Given the description of an element on the screen output the (x, y) to click on. 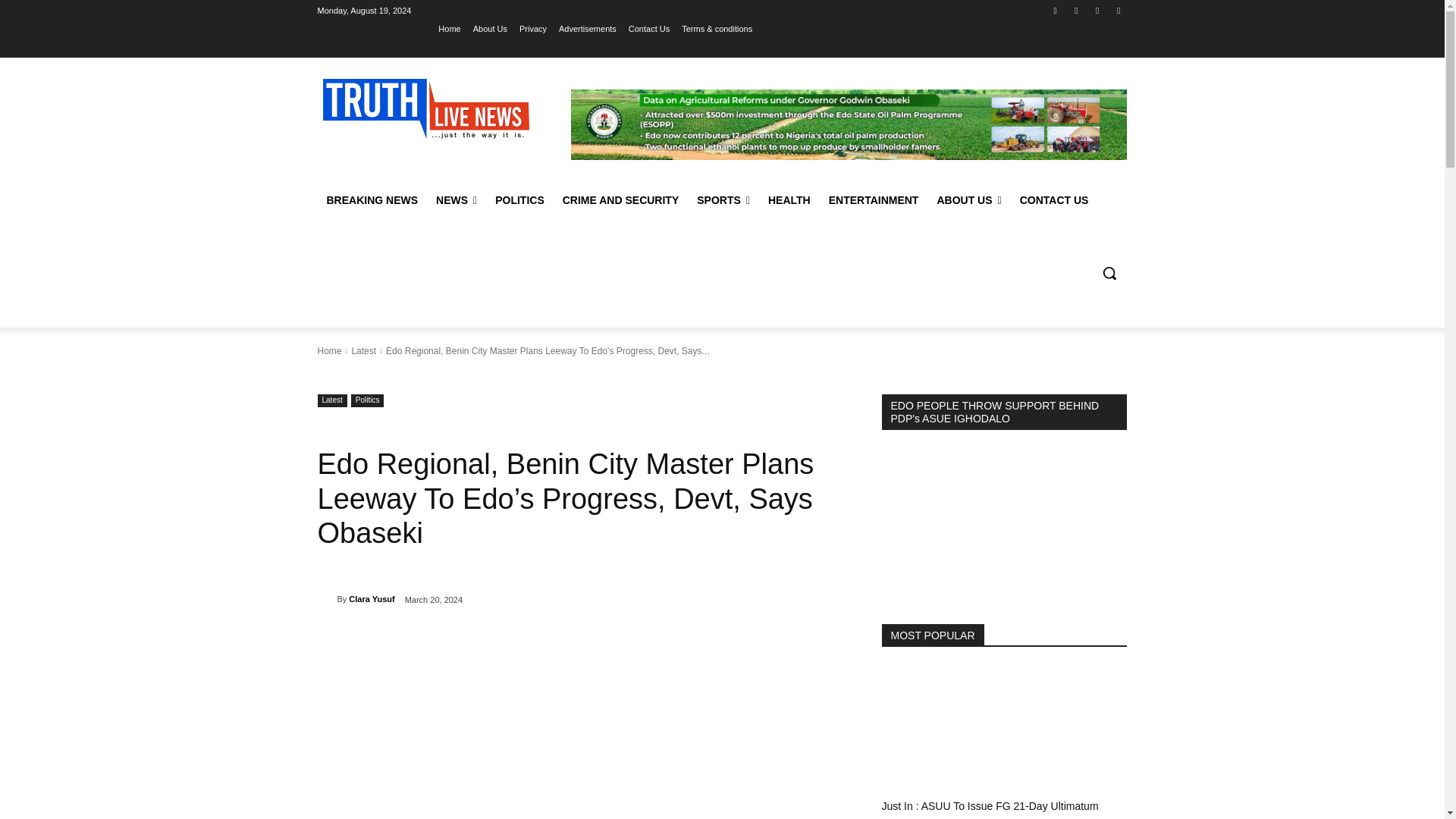
NEWS (456, 199)
Instagram (1075, 9)
Facebook (1055, 9)
Youtube (1117, 9)
Privacy (533, 28)
CRIME AND SECURITY (620, 199)
View all posts in Latest (362, 350)
Contact Us (648, 28)
Twitter (1097, 9)
Clara Yusuf (326, 598)
